Given the description of an element on the screen output the (x, y) to click on. 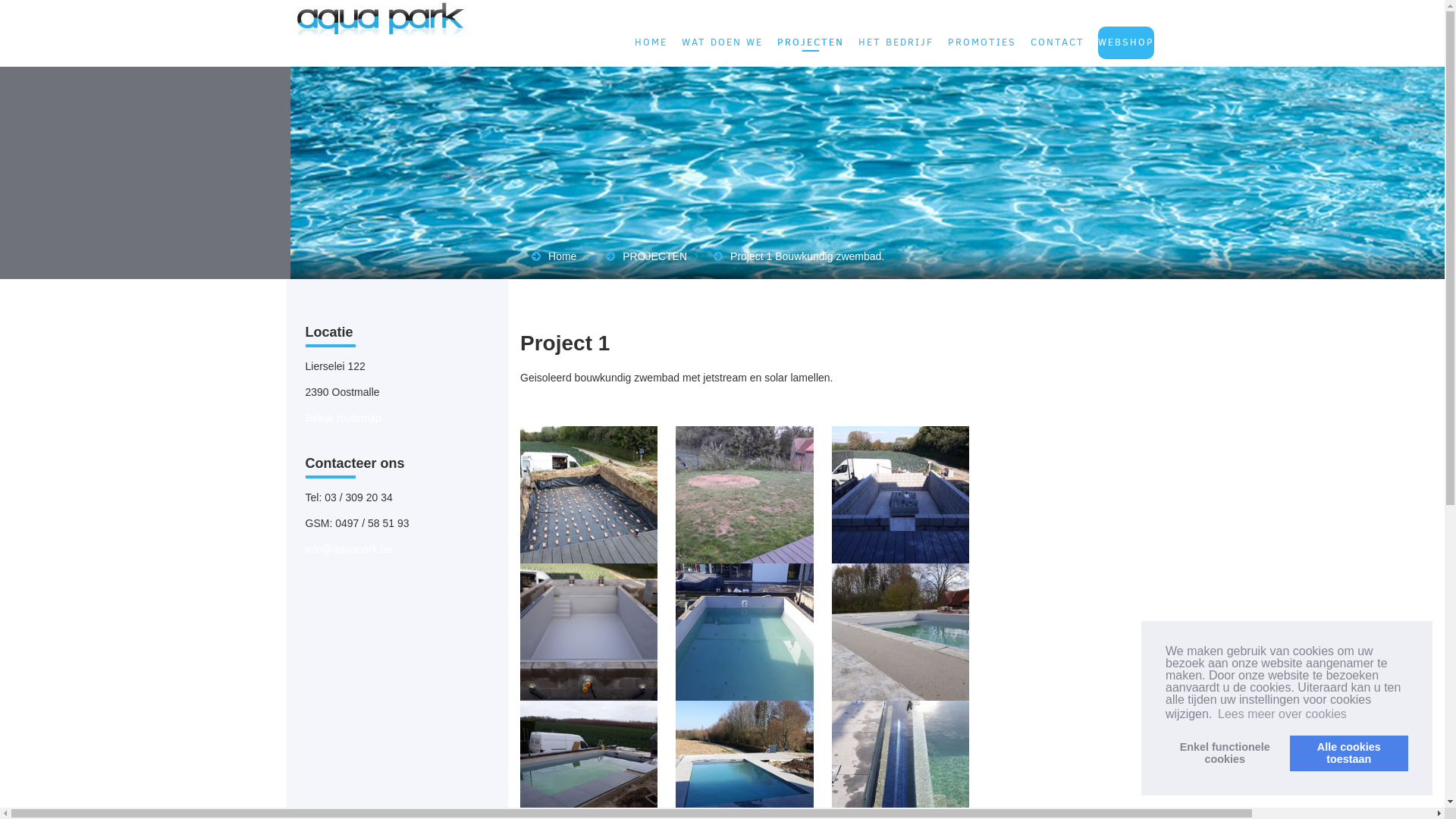
WAT DOEN WE Element type: text (721, 41)
Lees meer over cookies Element type: text (1282, 714)
Project 1 Bouwkundig zwembad. Element type: text (807, 256)
CONTACT Element type: text (1057, 41)
info@aquapark.be Element type: text (348, 548)
PROJECTEN Element type: text (810, 41)
Enkel functionele
cookies Element type: text (1224, 753)
PROJECTEN Element type: text (654, 256)
HET BEDRIJF Element type: text (895, 41)
Alle cookies
toestaan Element type: text (1348, 753)
Bekijk routemap Element type: text (342, 417)
WEBSHOP Element type: text (1126, 41)
HOME Element type: text (650, 41)
PROMOTIES Element type: text (981, 41)
Home Element type: text (562, 256)
